Given the description of an element on the screen output the (x, y) to click on. 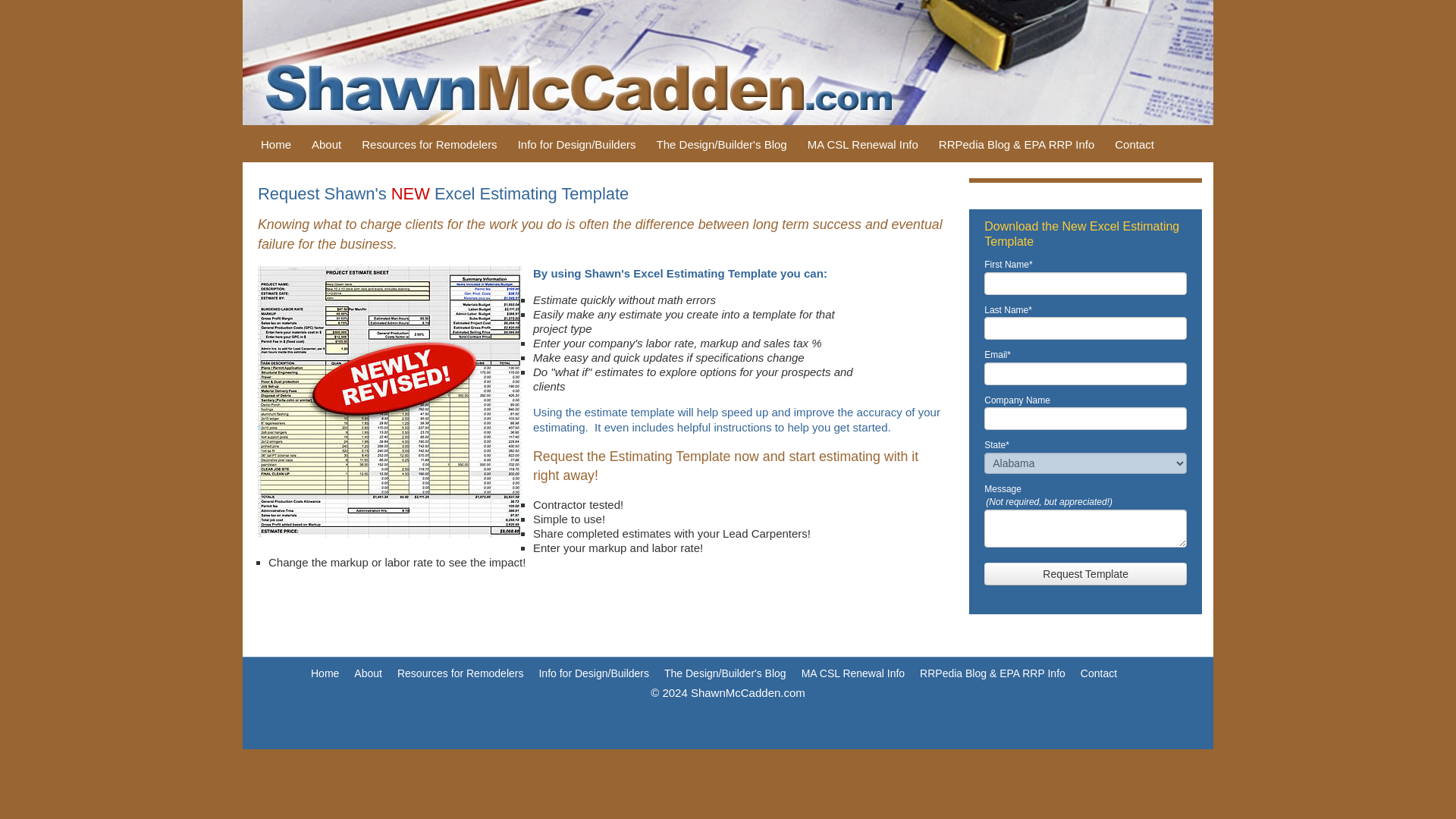
MA CSL Renewal Info (862, 144)
Resources for Remodelers (428, 144)
Request Template (1085, 573)
Home (275, 144)
About (326, 144)
